Given the description of an element on the screen output the (x, y) to click on. 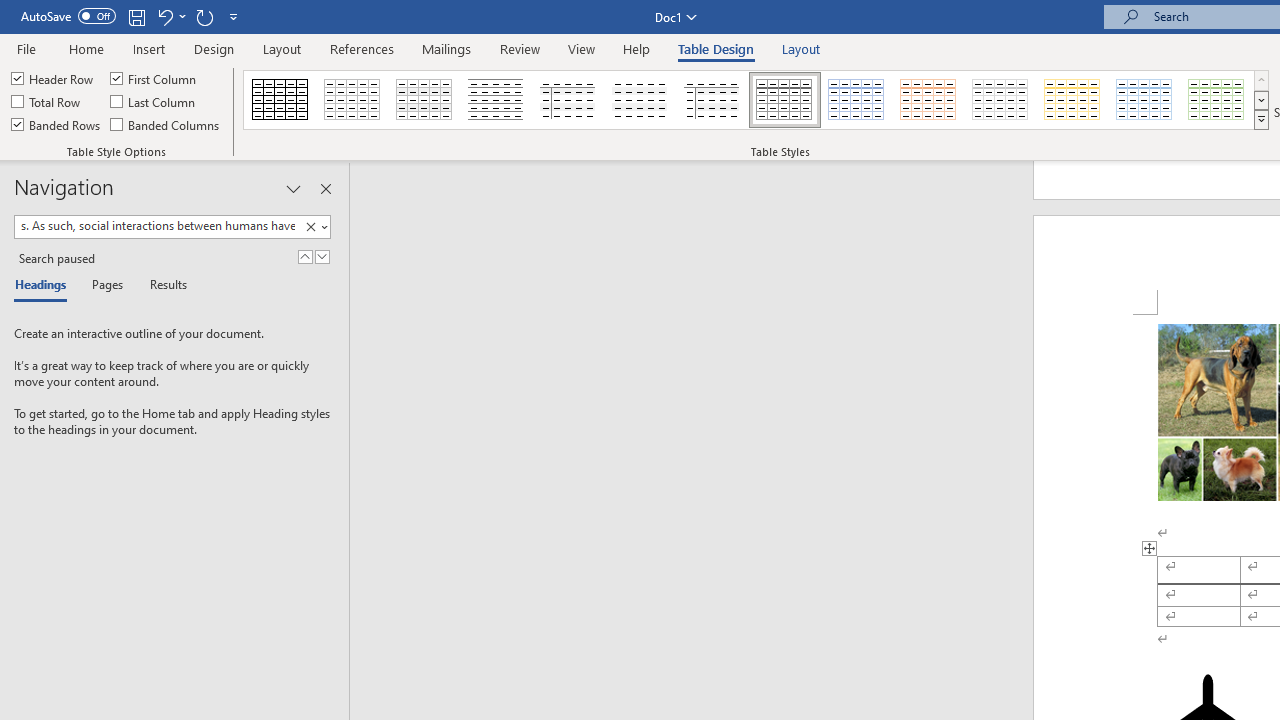
Table Grid Light (353, 100)
Clear (314, 227)
Pages (105, 285)
Grid Table 1 Light - Accent 5 (1144, 100)
Undo Style (170, 15)
Grid Table 1 Light - Accent 6 (1217, 100)
Results (161, 285)
